Given the description of an element on the screen output the (x, y) to click on. 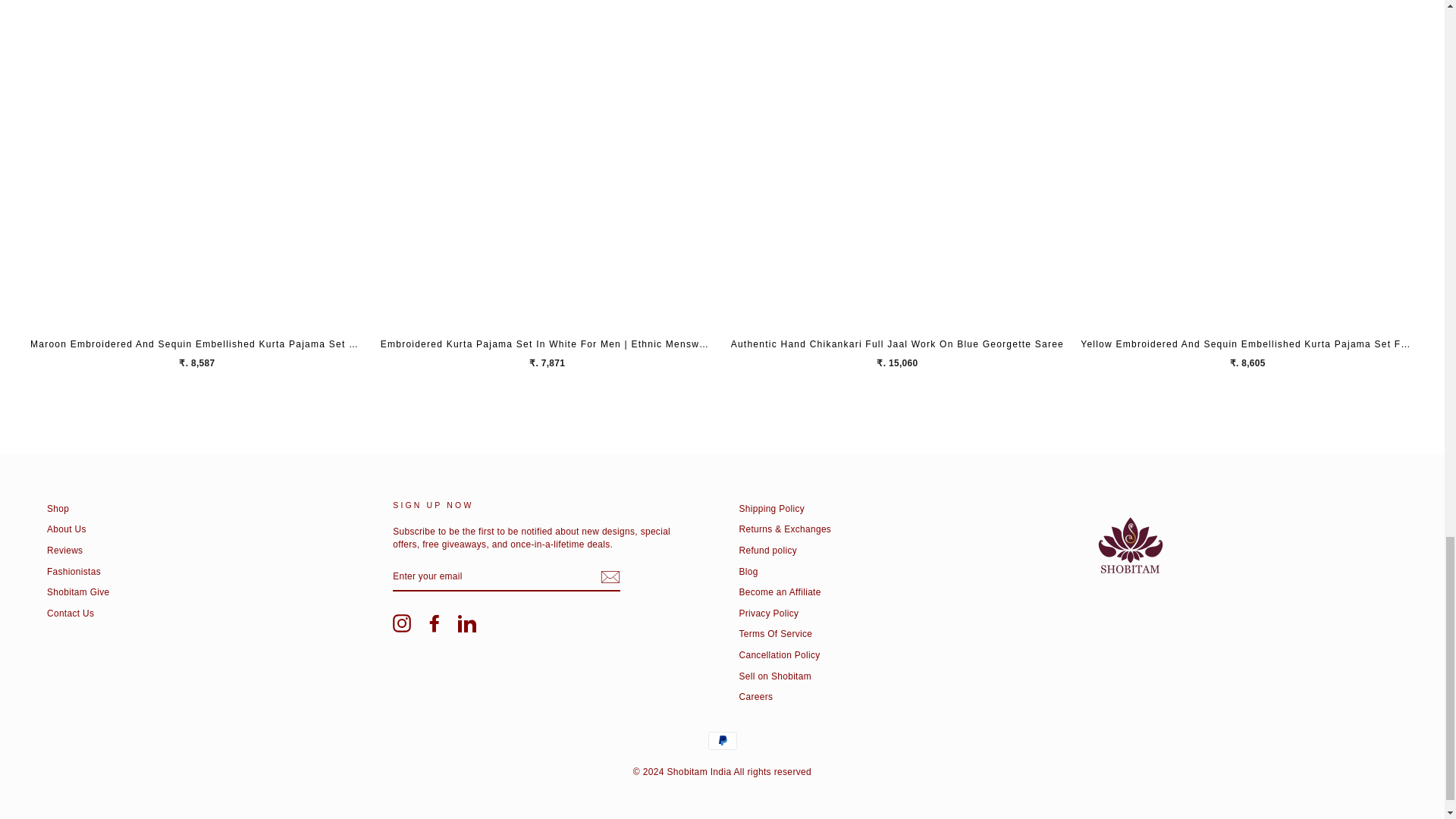
PayPal (721, 741)
Shobitam India on Facebook (434, 623)
Shobitam India on Instagram (401, 623)
Shobitam India on LinkedIn (467, 623)
